Given the description of an element on the screen output the (x, y) to click on. 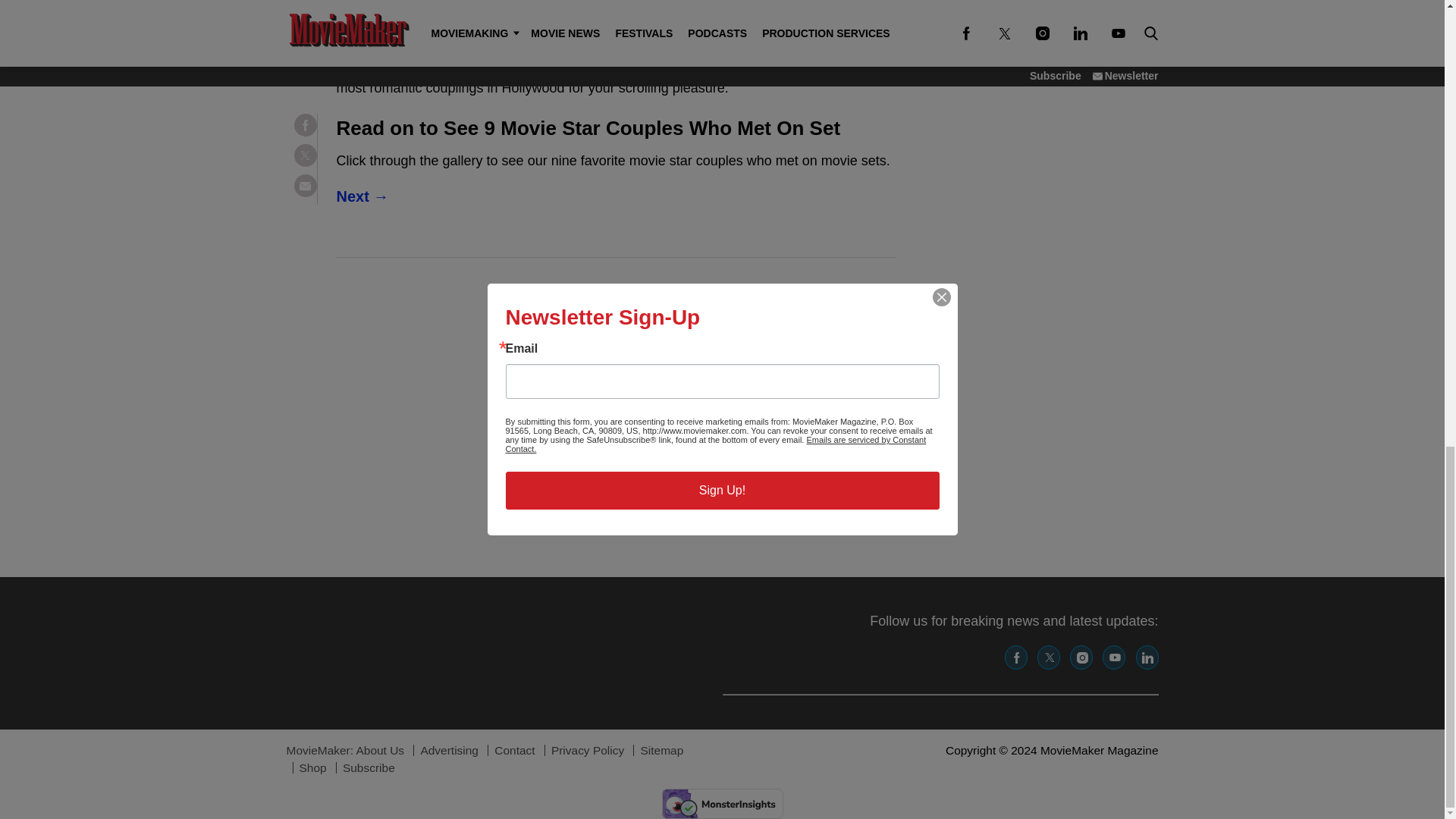
Contact MovieMaker Magazine (514, 749)
Connect with us on LinkedIn (1146, 657)
MovieMaker: About Us (345, 749)
3rd party ad content (615, 417)
Follow us on Twitter (1047, 657)
Follow us on Instagram (1081, 657)
MovieMaker: About Us (345, 749)
Advertising (449, 749)
Follow us on Facebook (1015, 657)
Subscribe to our YouTube channel (1113, 657)
